Given the description of an element on the screen output the (x, y) to click on. 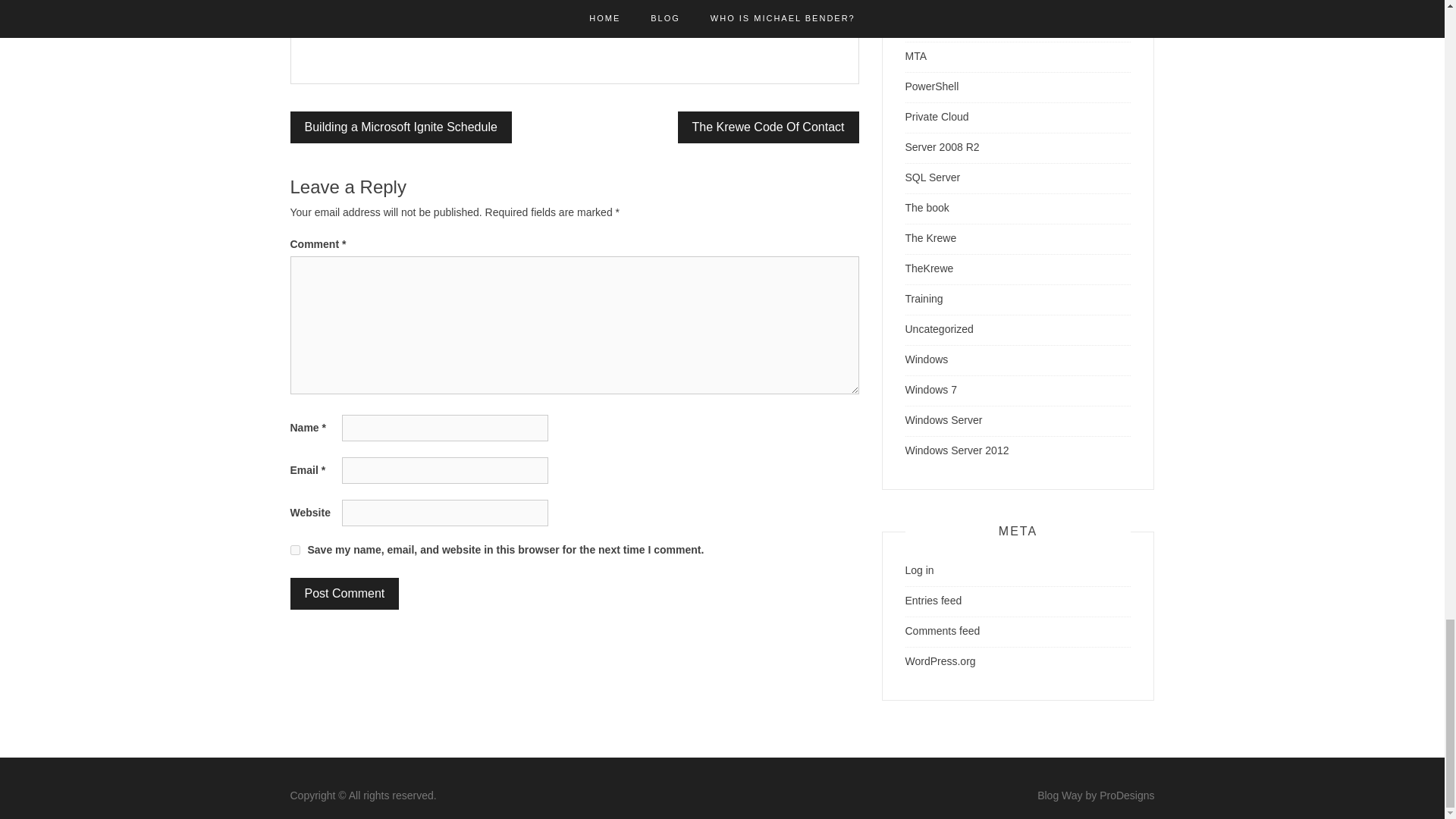
Post Comment (343, 593)
Building a Microsoft Ignite Schedule (400, 127)
yes (294, 550)
Post Comment (343, 593)
The Krewe Code Of Contact (768, 127)
